Given the description of an element on the screen output the (x, y) to click on. 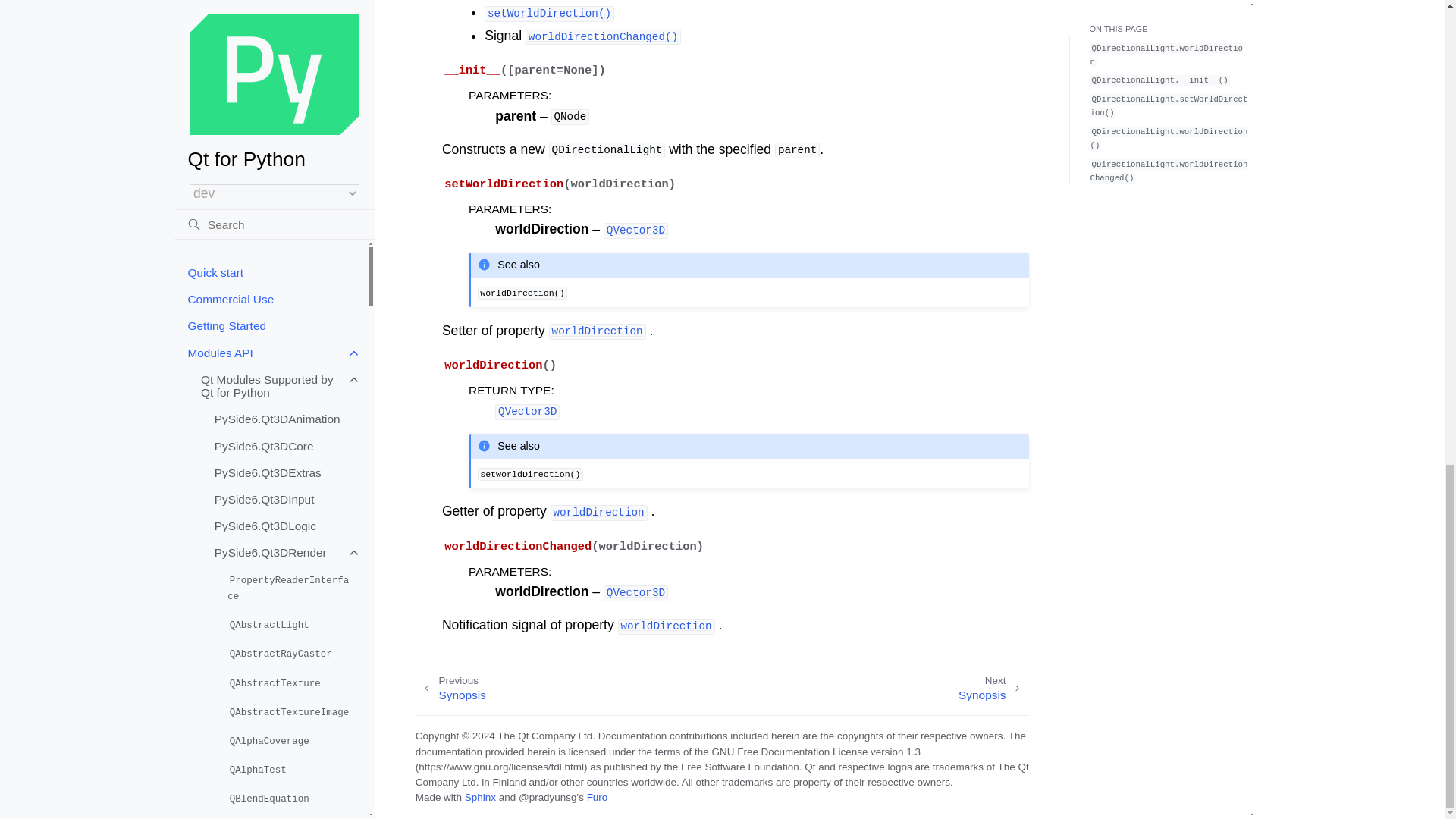
QDebugOverlay (290, 77)
QComputeCommand (290, 18)
QDepthTest (290, 134)
QDispatchCompute (290, 192)
PySide6.Qt3DRender.QDirectionalLight.worldDirectionChanged (603, 35)
QDithering (290, 221)
QEffect (290, 250)
QCullFace (290, 47)
QDirectionalLight (290, 163)
QColorMask (290, 2)
